Given the description of an element on the screen output the (x, y) to click on. 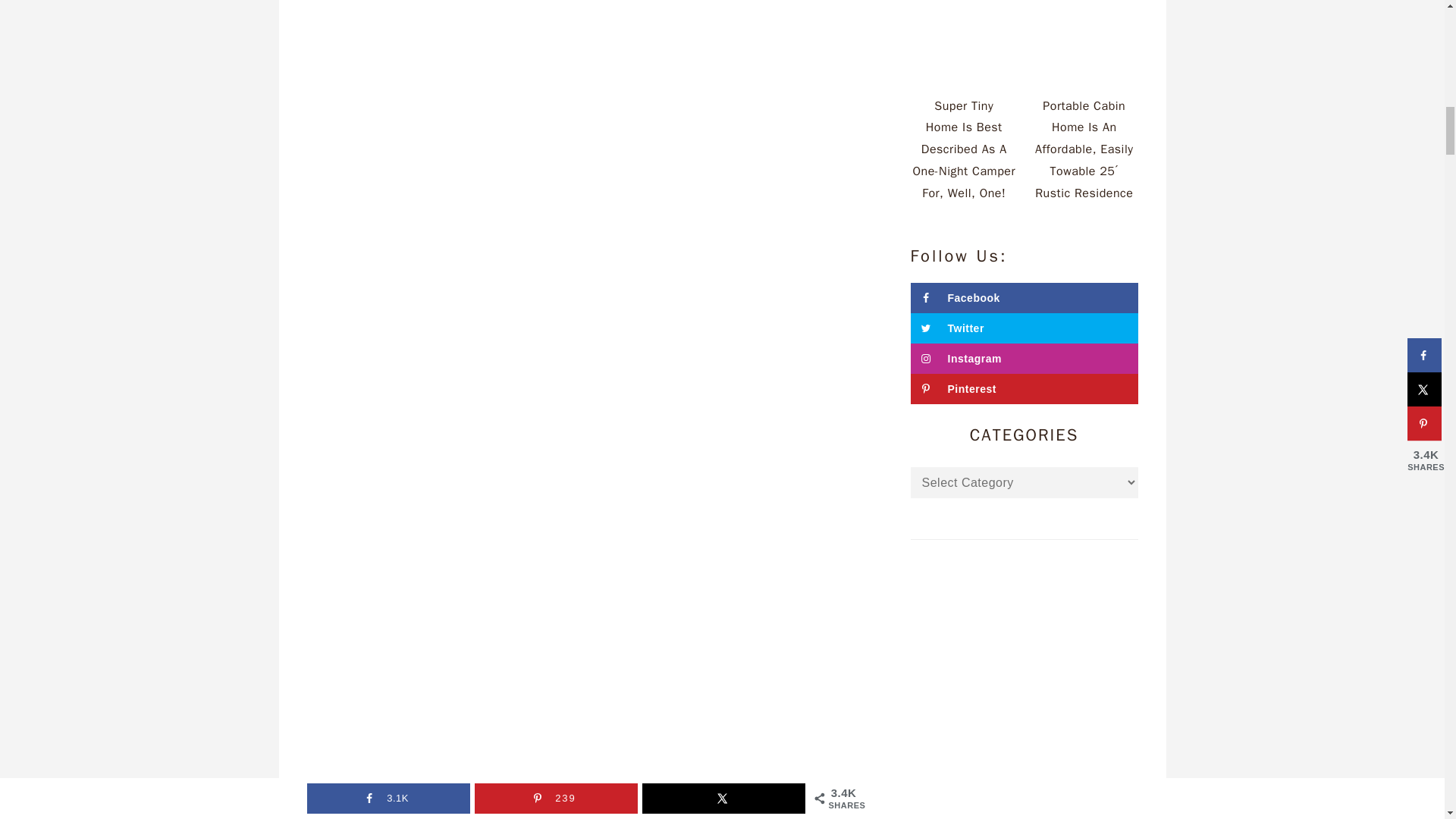
Follow on Twitter (1023, 327)
Follow on Facebook (1023, 297)
Follow on Instagram (1023, 358)
Follow on Pinterest (1023, 388)
